Given the description of an element on the screen output the (x, y) to click on. 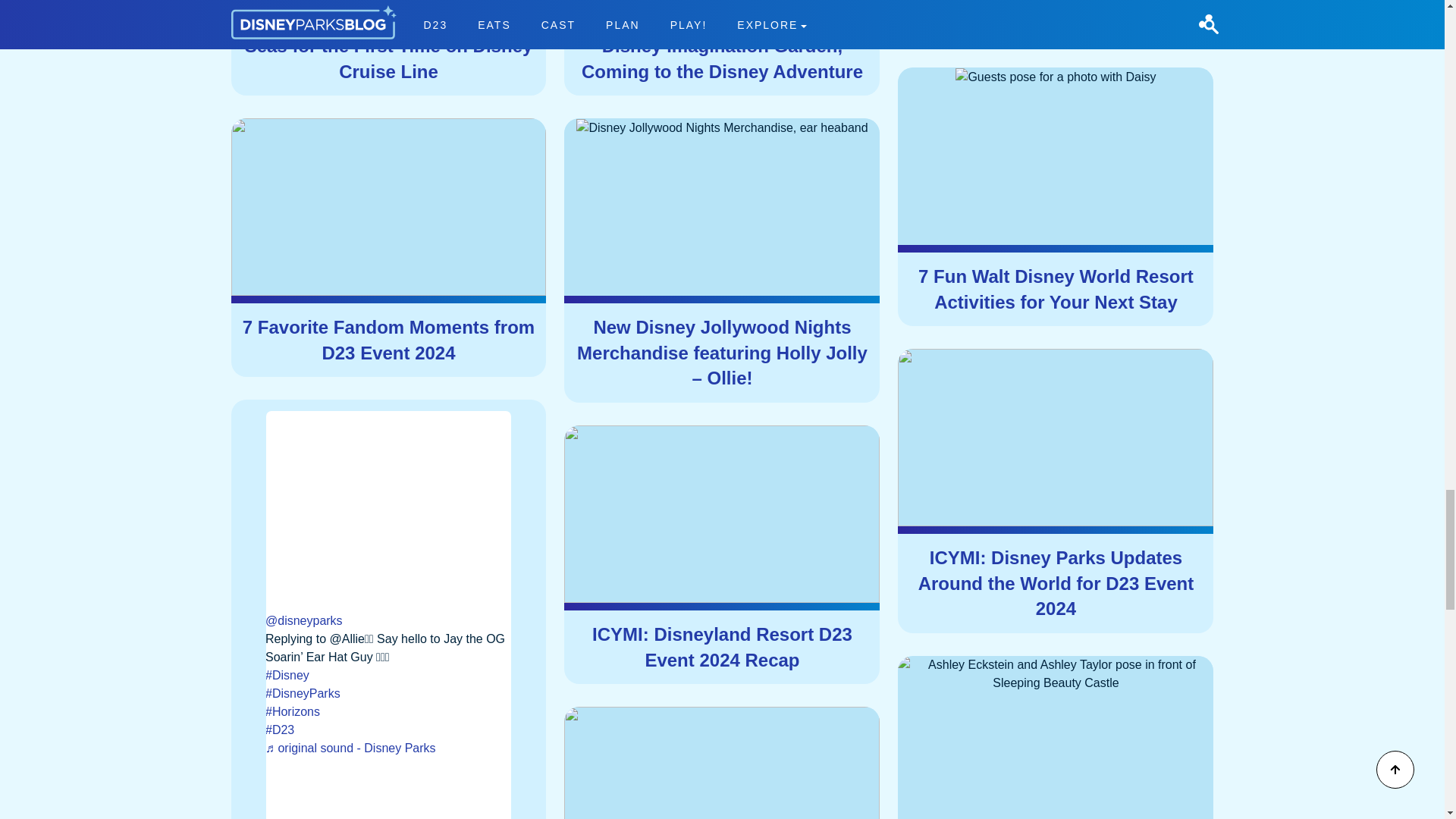
disney (388, 675)
d23 (388, 730)
horizons (388, 711)
disneyparks (388, 693)
